Given the description of an element on the screen output the (x, y) to click on. 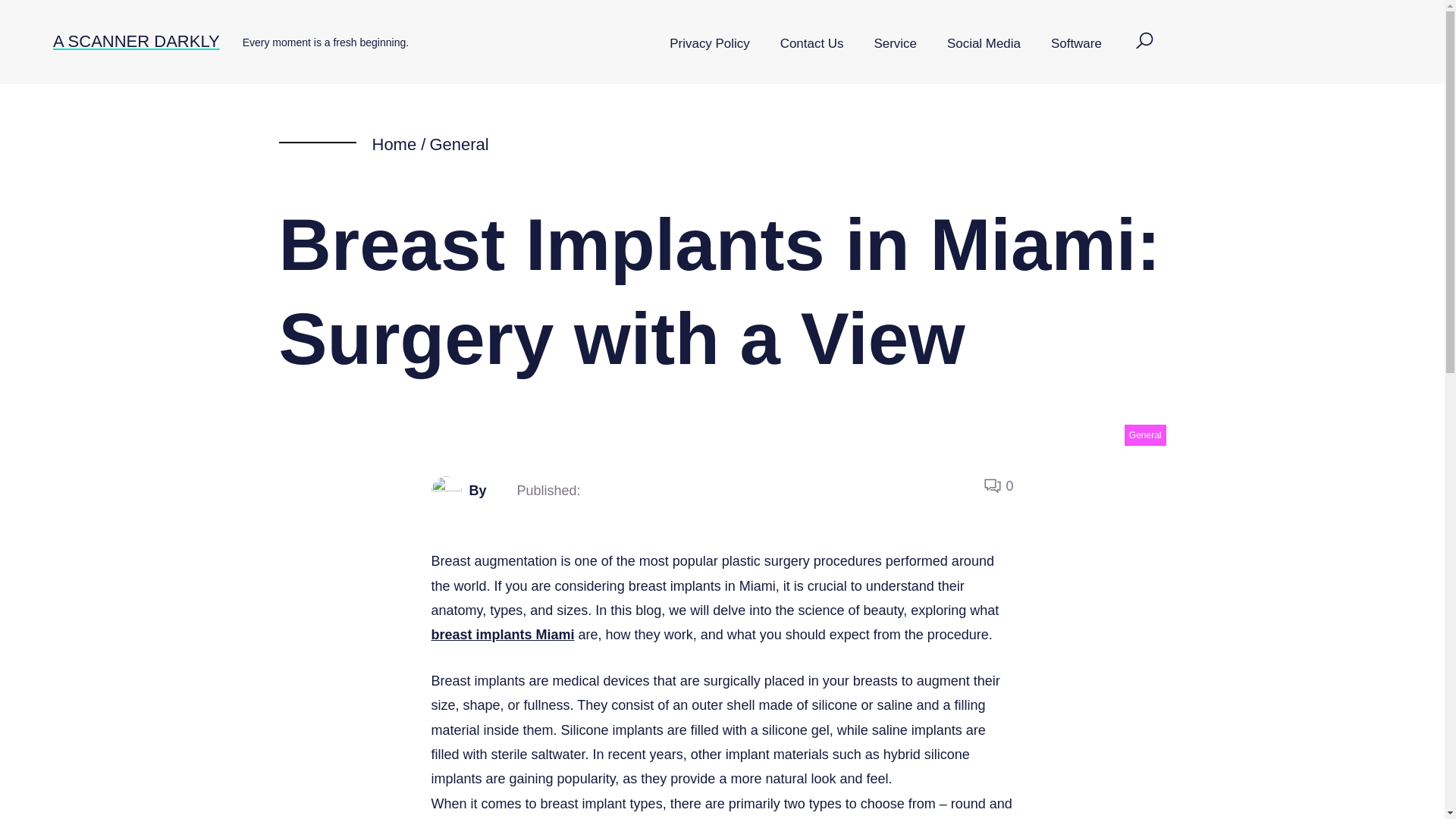
Software (1075, 43)
General (1145, 435)
A SCANNER DARKLY (135, 40)
General (458, 144)
Contact Us (812, 43)
Home (393, 144)
Privacy Policy (708, 43)
Service (895, 43)
breast implants Miami (501, 634)
Social Media (983, 43)
